Given the description of an element on the screen output the (x, y) to click on. 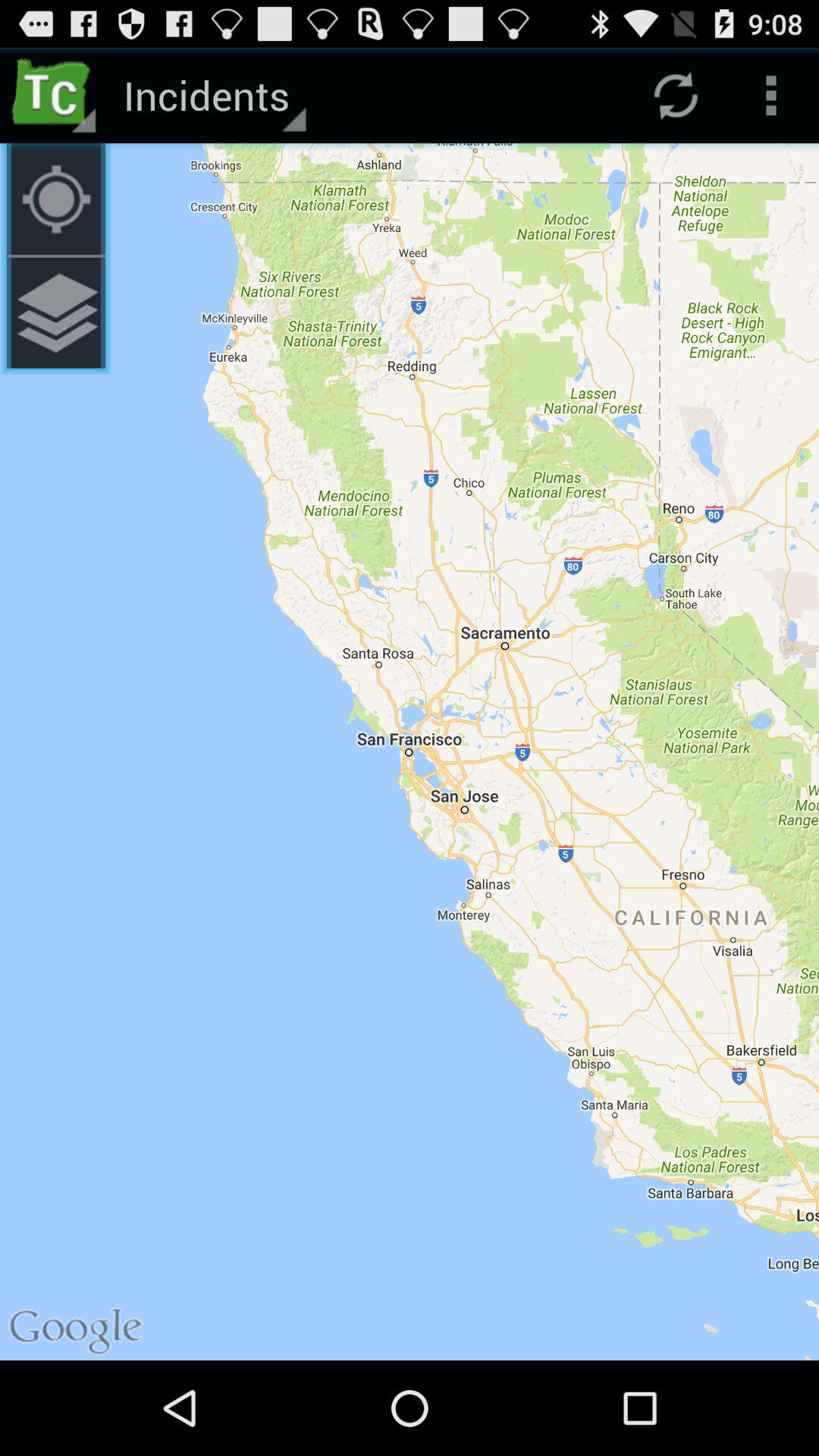
launch item to the left of incidents app (55, 198)
